Given the description of an element on the screen output the (x, y) to click on. 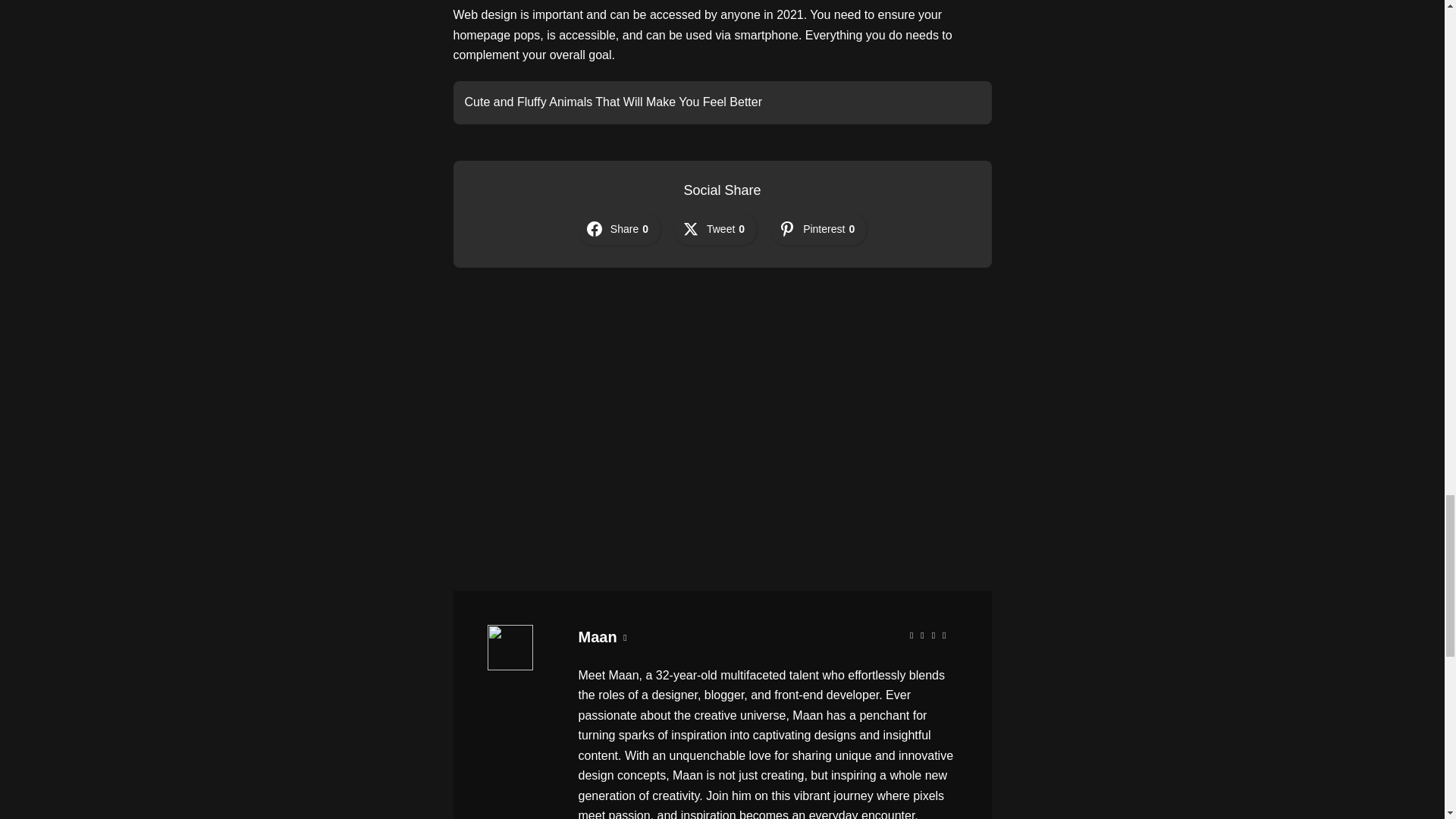
Share on Share (618, 228)
Share on Pinterest (818, 228)
Share on Tweet (715, 228)
